Given the description of an element on the screen output the (x, y) to click on. 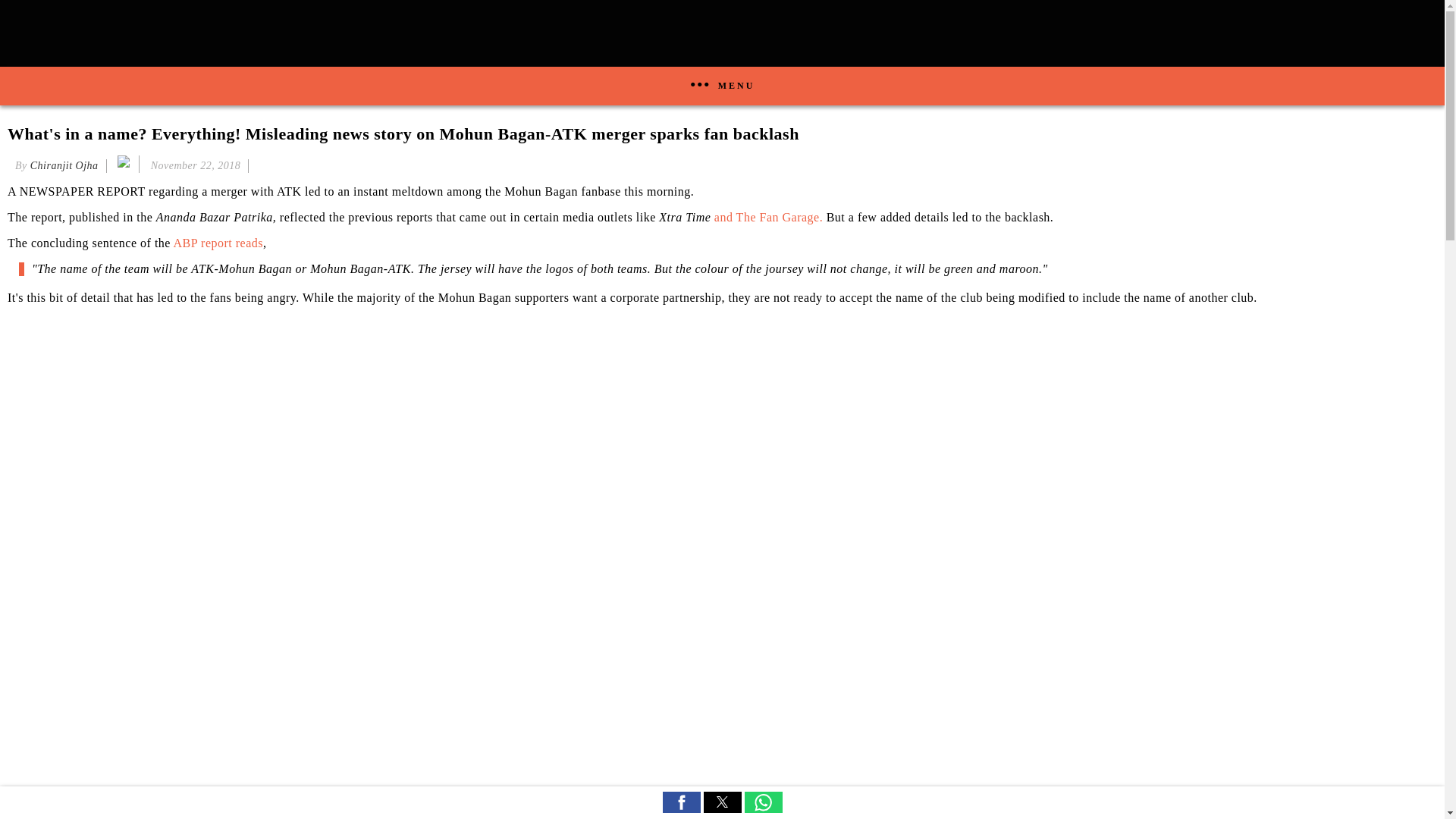
Chiranjit Ojha (64, 165)
ABP report reads (218, 242)
and The Fan Garage. (768, 216)
